Given the description of an element on the screen output the (x, y) to click on. 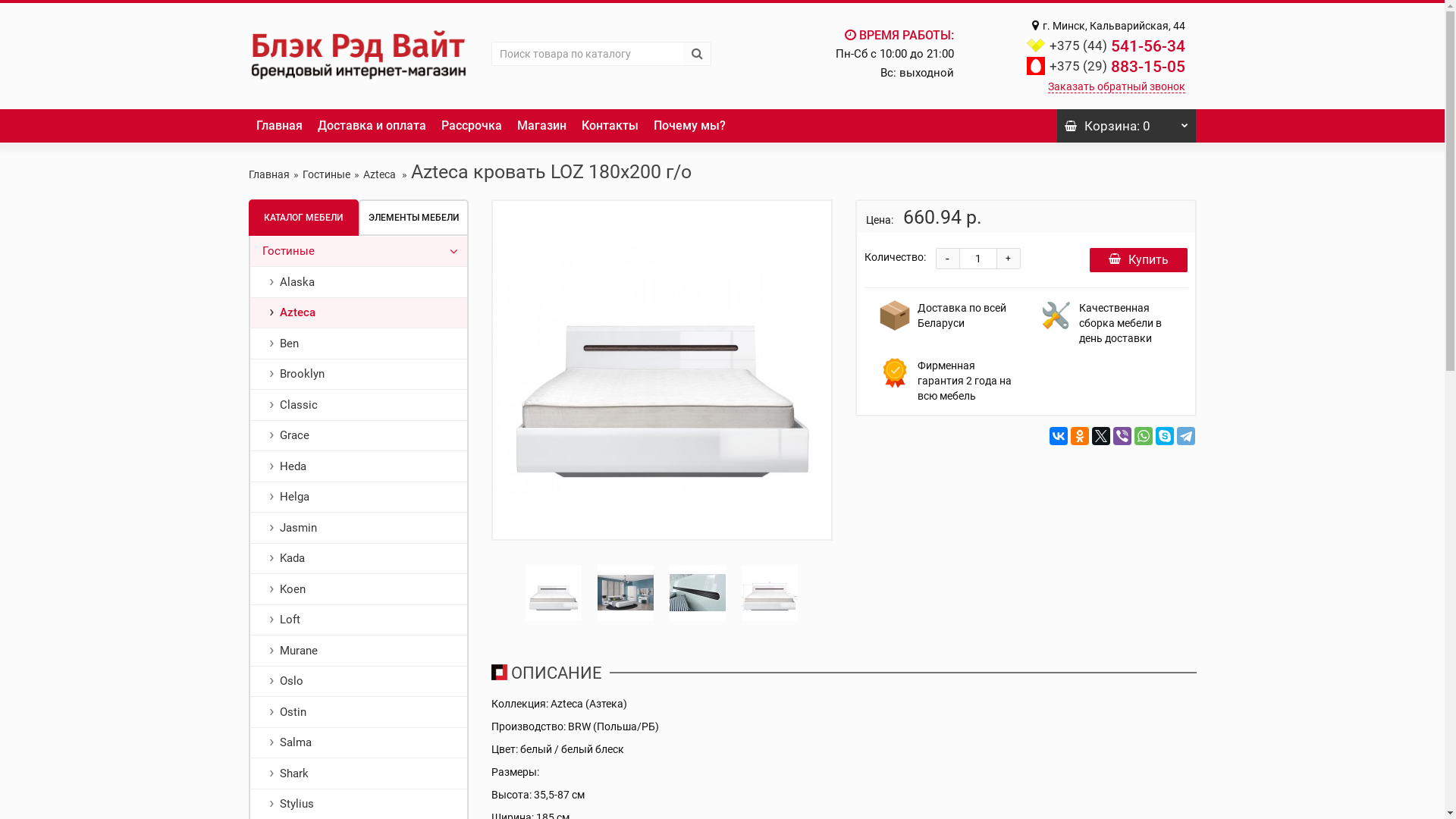
Azteca Element type: text (379, 174)
Ben Element type: text (358, 343)
Jasmin Element type: text (358, 527)
Helga Element type: text (358, 497)
Classic Element type: text (358, 404)
Twitter Element type: hover (1101, 435)
Brooklyn Element type: text (358, 374)
WhatsApp Element type: hover (1143, 435)
Loft Element type: text (358, 620)
Ostin Element type: text (358, 711)
Viber Element type: hover (1122, 435)
- Element type: text (946, 258)
Heda Element type: text (358, 466)
Alaska Element type: text (358, 281)
Oslo Element type: text (358, 680)
Black Red White Element type: hover (358, 55)
Telegram Element type: hover (1185, 435)
+375 (44) 541-56-34 Element type: text (1117, 46)
+ Element type: text (1007, 258)
Grace Element type: text (358, 435)
+375 (29) 883-15-05 Element type: text (1117, 66)
Shark Element type: text (358, 773)
Salma Element type: text (358, 743)
Murane Element type: text (358, 650)
Azteca Element type: text (358, 312)
Koen Element type: text (358, 589)
Skype Element type: hover (1164, 435)
Kada Element type: text (358, 557)
